Given the description of an element on the screen output the (x, y) to click on. 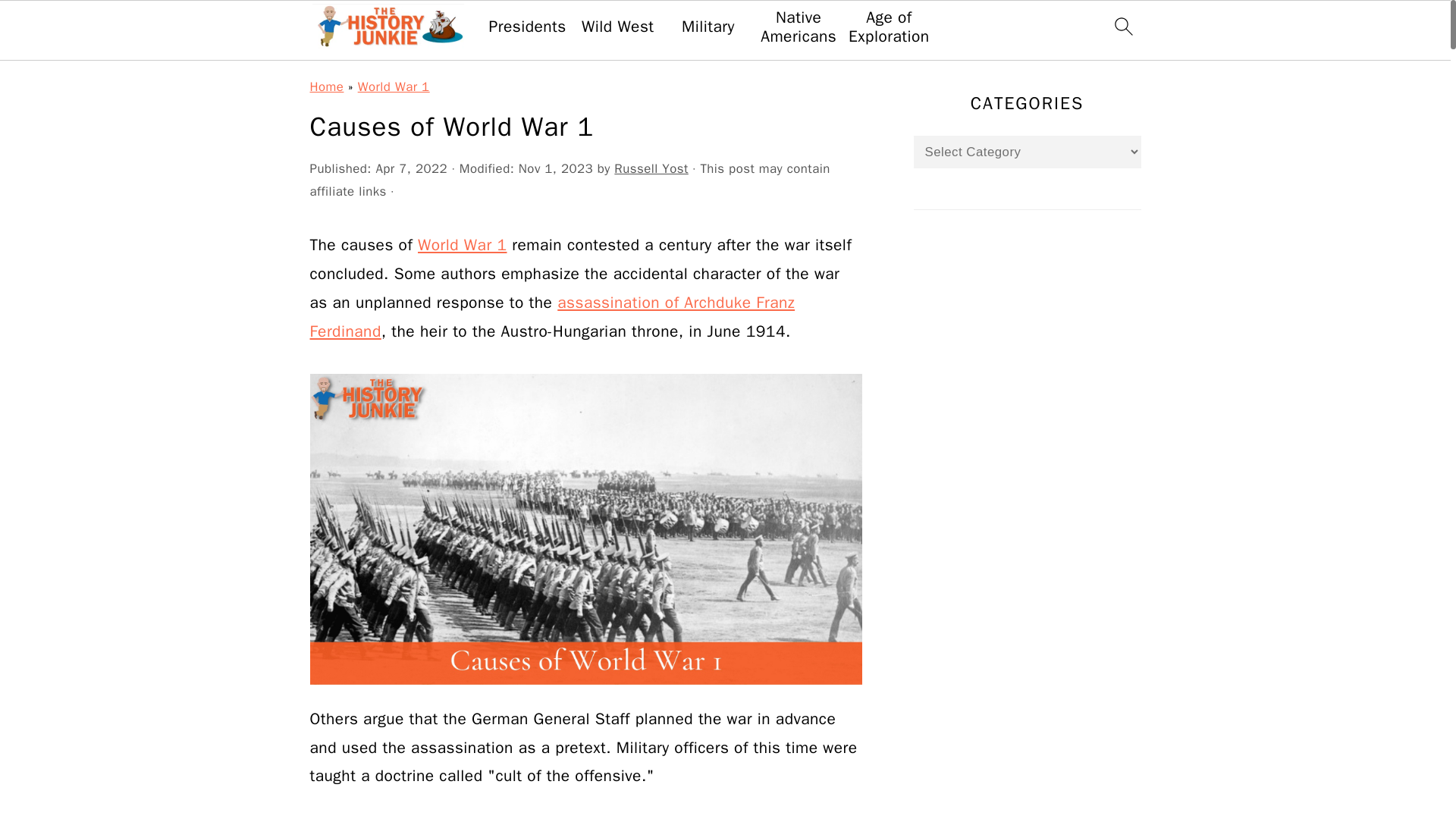
Wild West (616, 26)
search icon (1122, 26)
Age of Exploration (888, 26)
search icon (1122, 31)
Presidents (526, 26)
Native Americans (798, 26)
Military (708, 26)
